Given the description of an element on the screen output the (x, y) to click on. 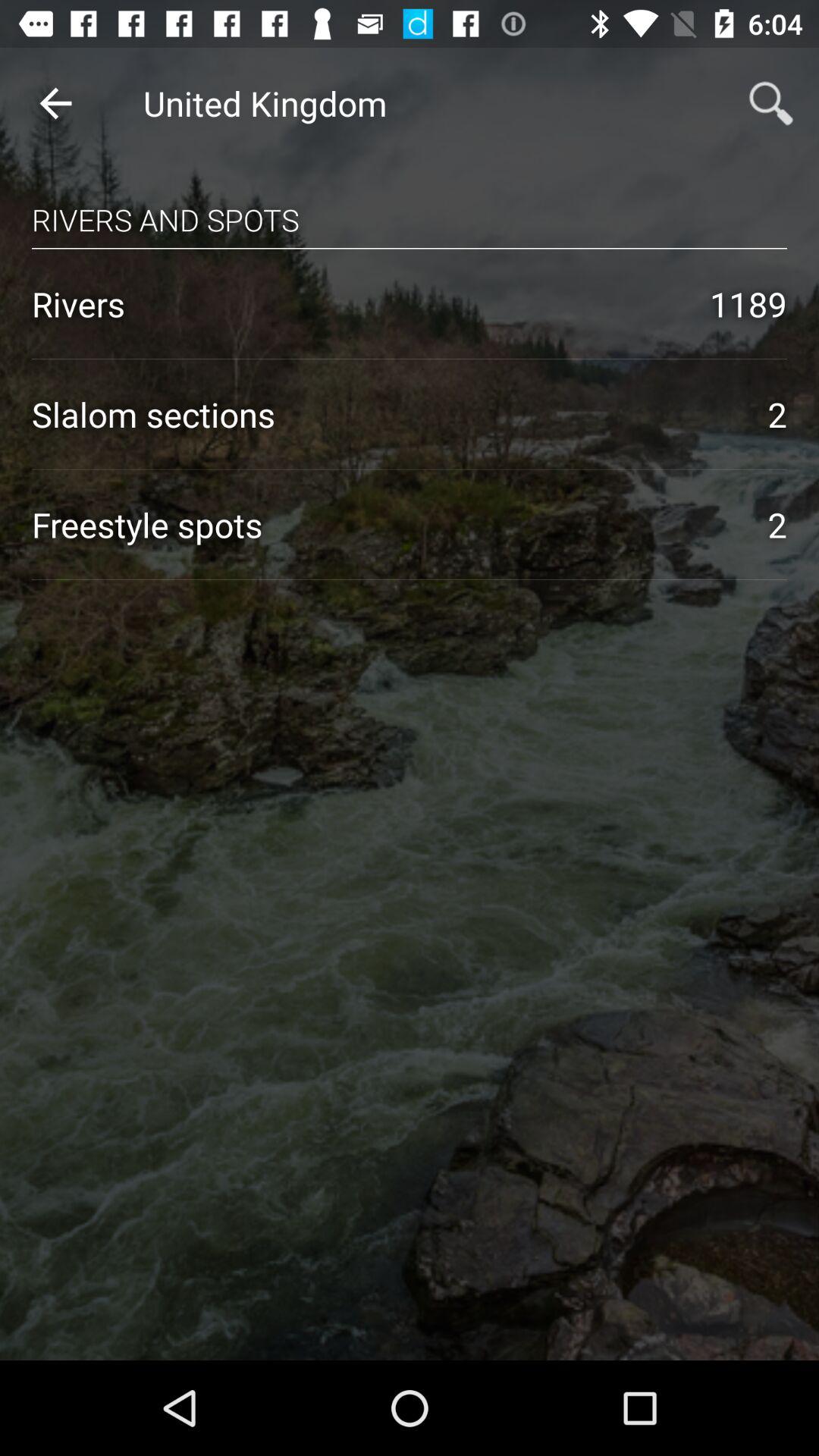
open the icon next to 2 item (383, 524)
